Given the description of an element on the screen output the (x, y) to click on. 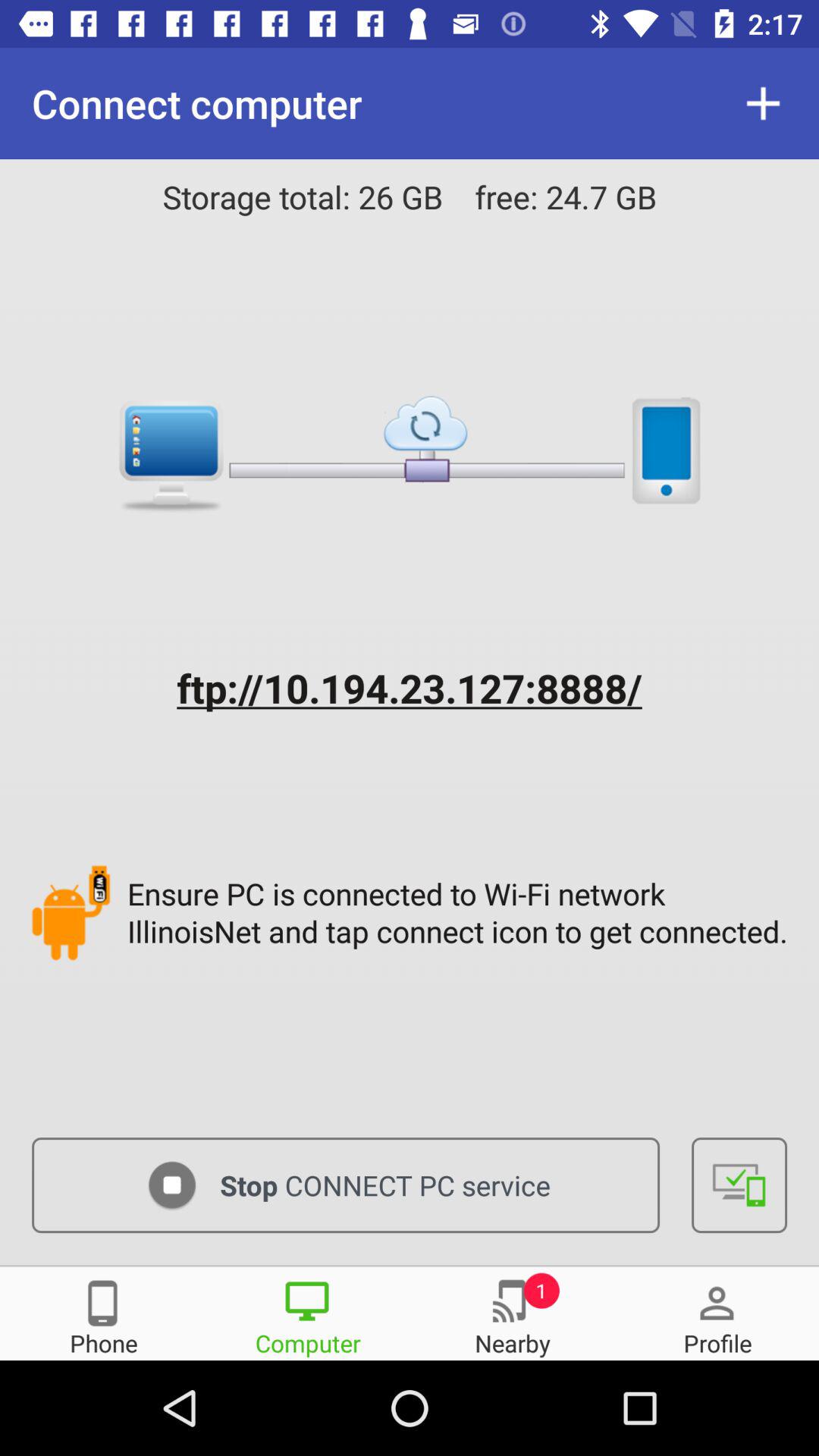
turn on the item below ftp 10 194 app (461, 912)
